Given the description of an element on the screen output the (x, y) to click on. 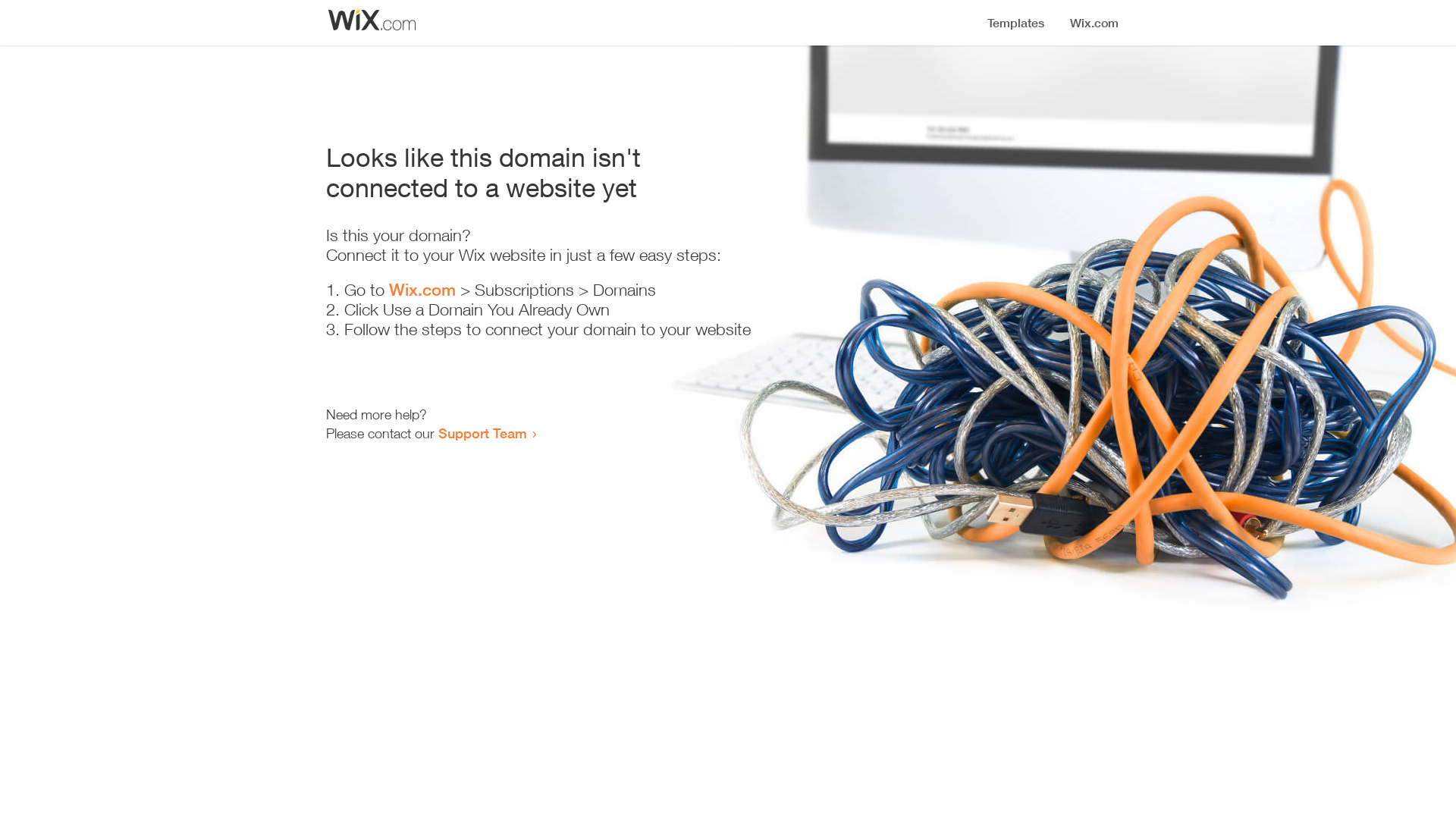
Wix.com Element type: text (422, 289)
Support Team Element type: text (482, 432)
